Given the description of an element on the screen output the (x, y) to click on. 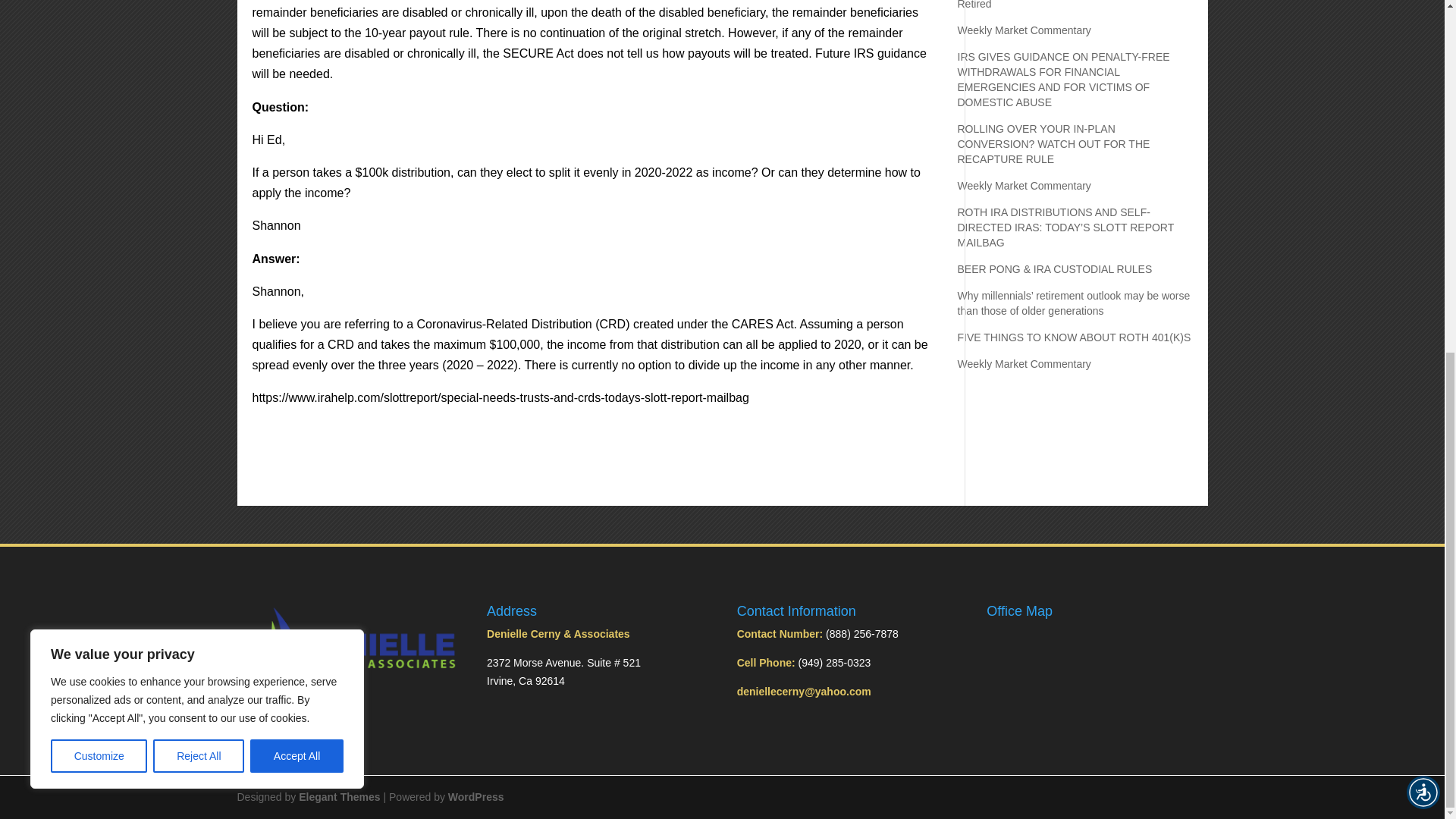
Reject All (198, 141)
Accept All (296, 141)
Premium WordPress Themes (339, 797)
Accessibility Menu (1422, 177)
Customize (98, 141)
